Given the description of an element on the screen output the (x, y) to click on. 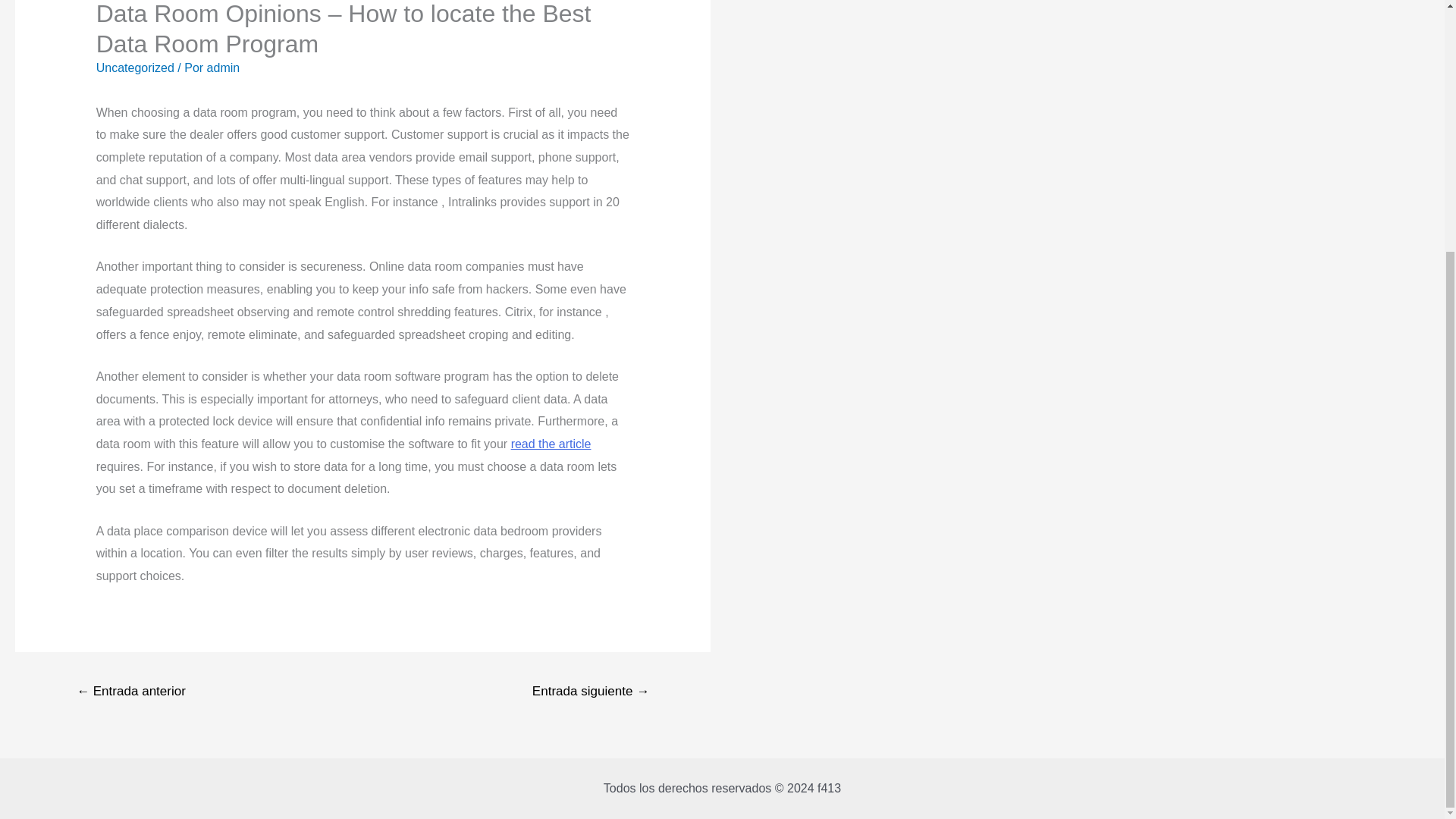
Uncategorized (135, 67)
read the article (551, 443)
admin (223, 67)
Ver todas las entradas de admin (223, 67)
